Given the description of an element on the screen output the (x, y) to click on. 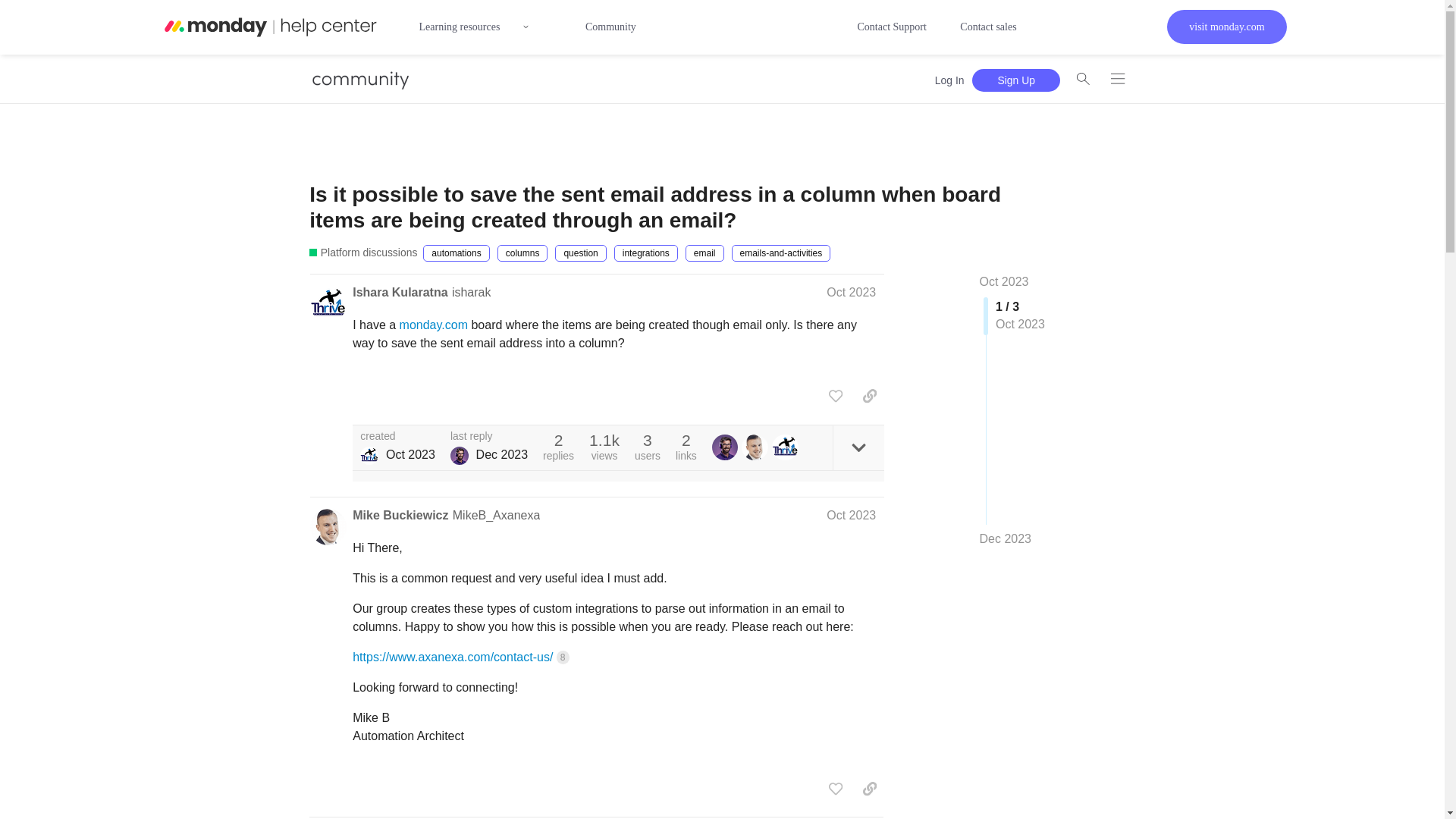
Learning resources (484, 27)
menu (1117, 78)
isharak (471, 291)
visit monday.com (1226, 26)
like this post (835, 395)
Contact sales (987, 27)
copy a link to this post to clipboard (869, 395)
expand topic details (857, 447)
Community (610, 27)
Post date (851, 291)
Oct 12, 2023 5:31 am (410, 454)
Contact Support (890, 27)
emails-and-activities (781, 252)
Oct 2023 (1004, 281)
Log In (949, 79)
